Given the description of an element on the screen output the (x, y) to click on. 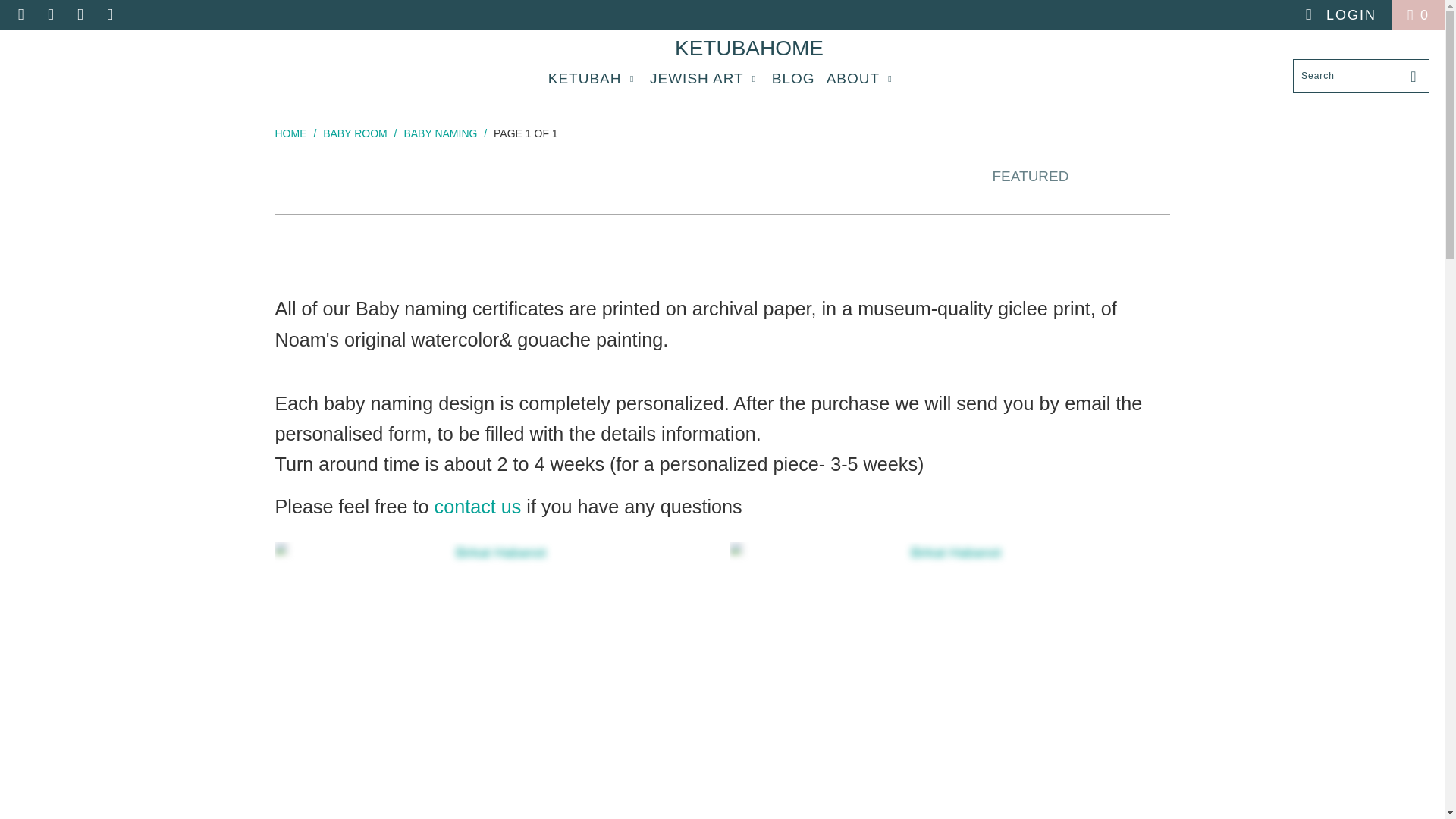
Ketubahome on Pinterest (78, 14)
Ketubahome on Instagram (108, 14)
Ketubahome (714, 47)
LOGIN (1339, 15)
KETUBAH (593, 78)
My Account  (1339, 15)
KETUBAHOME (714, 47)
JEWISH ART (704, 78)
baby naming (440, 133)
Baby Room (355, 133)
